Given the description of an element on the screen output the (x, y) to click on. 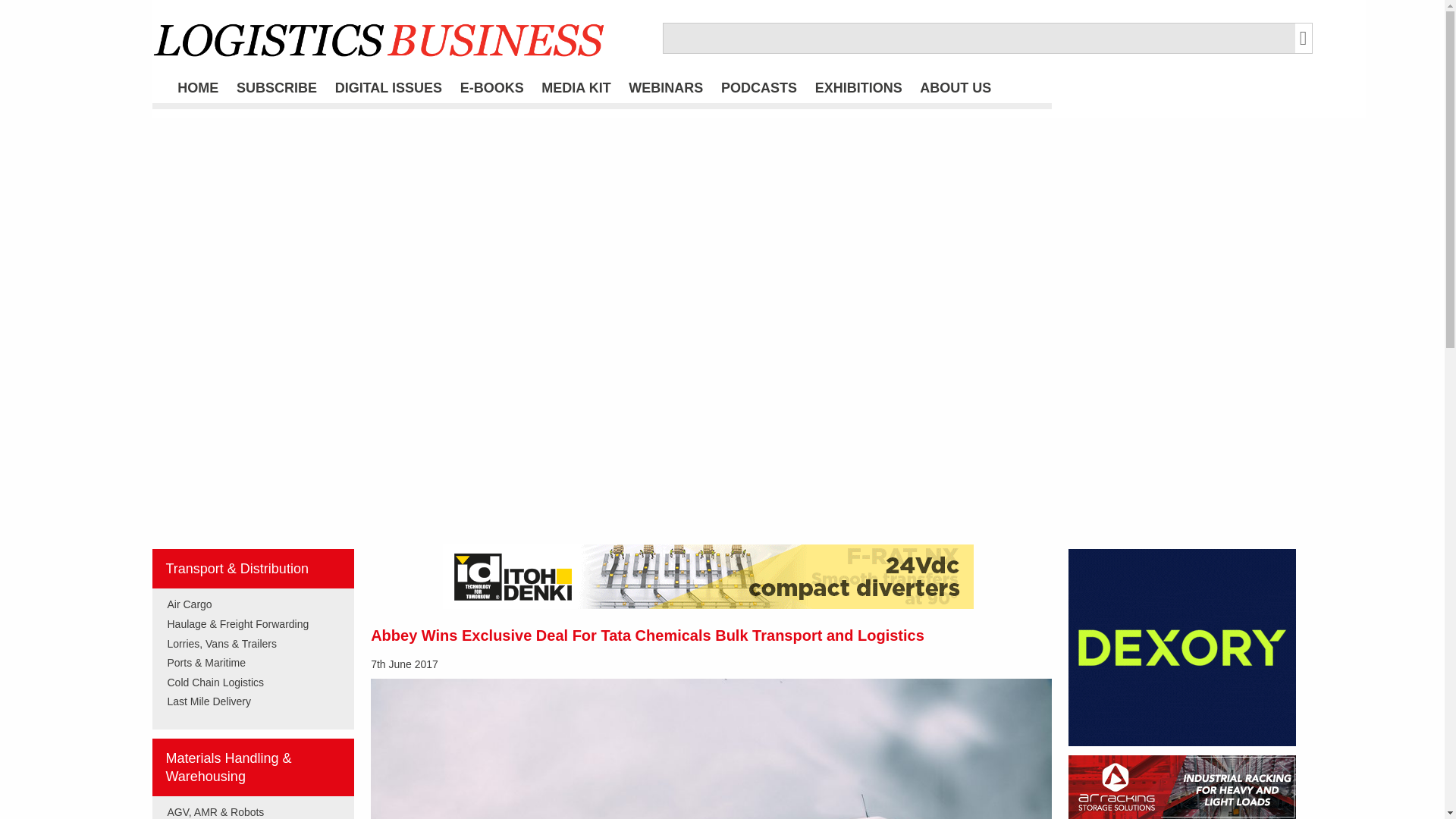
Search for: (978, 38)
